Given the description of an element on the screen output the (x, y) to click on. 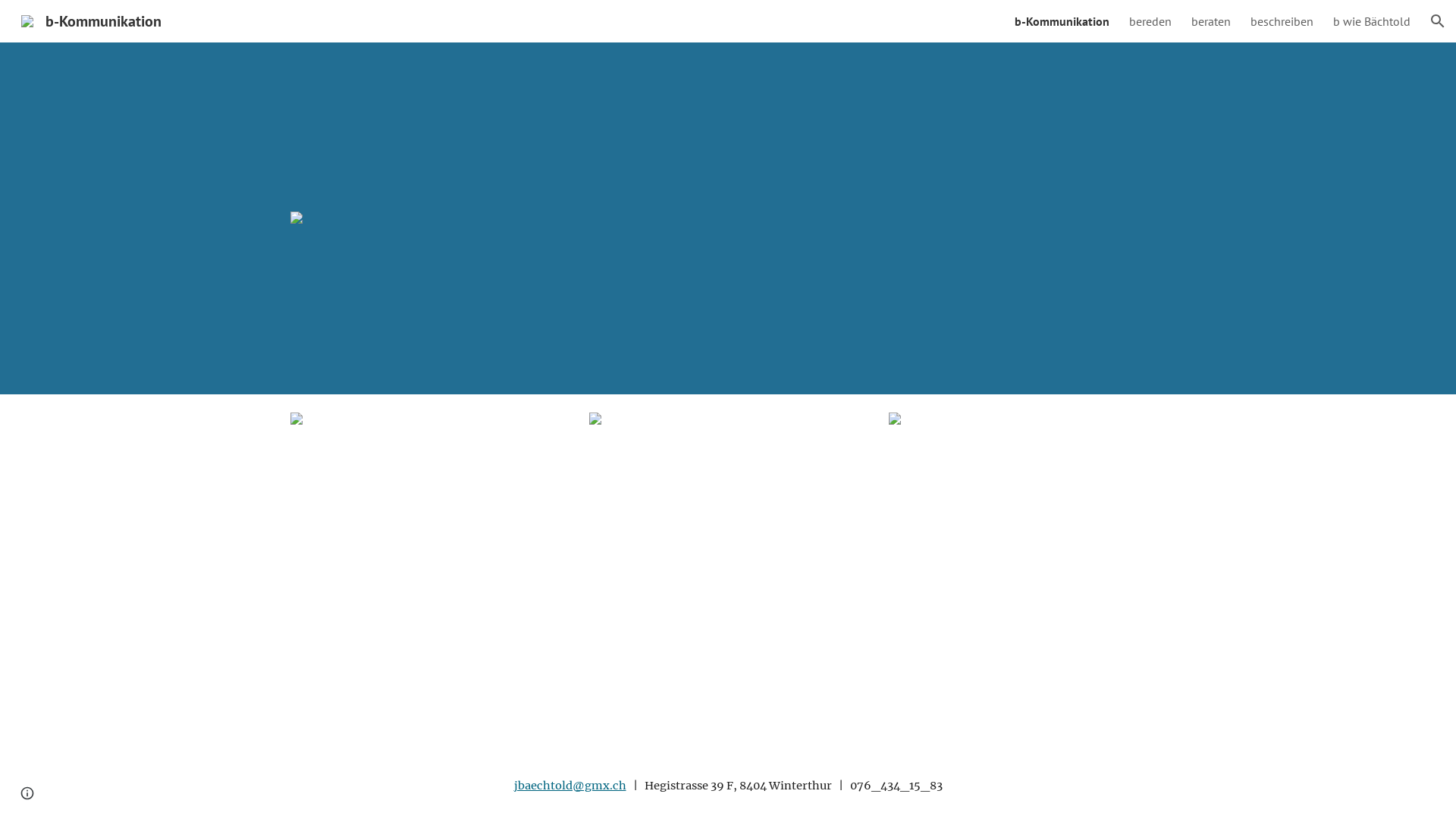
jbaechtold@gmx.ch Element type: text (570, 785)
beschreiben Element type: text (1281, 20)
bereden Element type: text (1150, 20)
beraten Element type: text (1210, 20)
b-Kommunikation Element type: text (91, 19)
b-Kommunikation Element type: text (1061, 20)
